Given the description of an element on the screen output the (x, y) to click on. 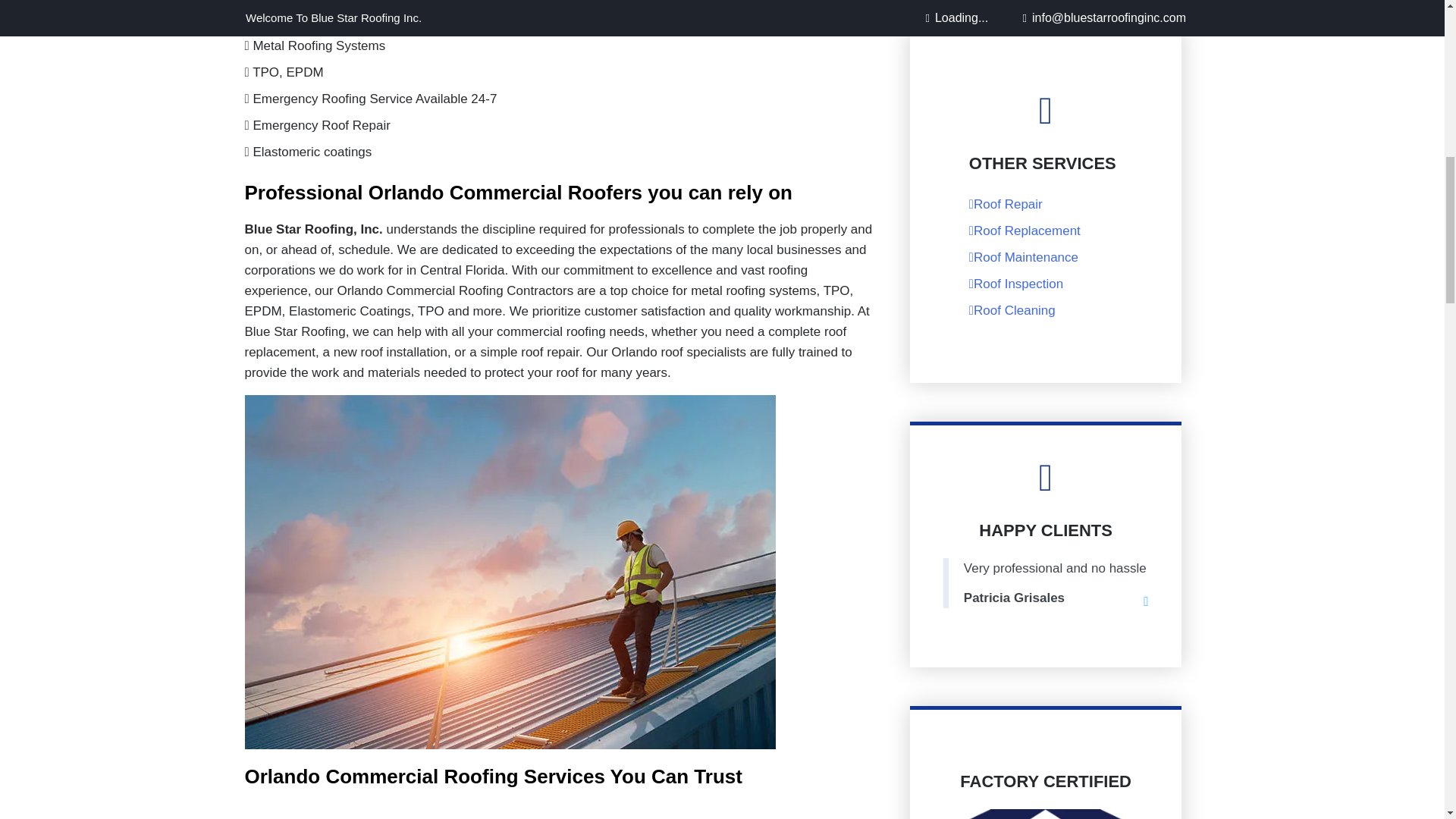
Roof Maintenance (1023, 257)
Roof Replacement (1024, 230)
Roof Repair (1005, 203)
Roof Cleaning (1012, 310)
Roof Inspection (1015, 284)
